Given the description of an element on the screen output the (x, y) to click on. 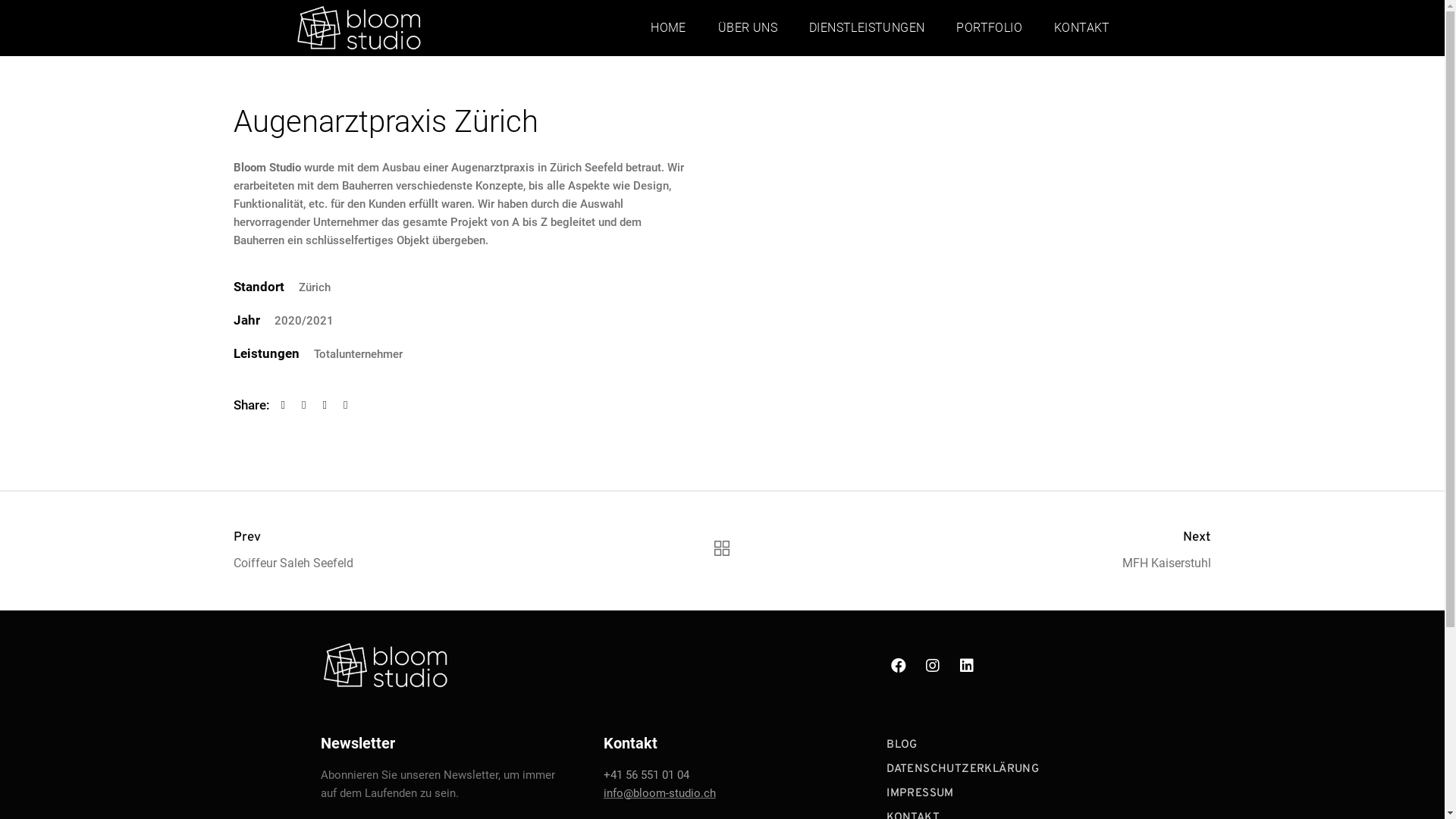
DIENSTLEISTUNGEN Element type: text (866, 27)
+41 56 551 01 04 Element type: text (646, 774)
PORTFOLIO Element type: text (989, 27)
Prev
Coiffeur Saleh Seefeld Element type: text (388, 550)
info@bloom-studio.ch Element type: text (659, 793)
HOME Element type: text (668, 27)
KONTAKT Element type: text (1082, 27)
IMPRESSUM Element type: text (919, 793)
Next
MFH Kaiserstuhl Element type: text (1055, 550)
BLOG Element type: text (901, 744)
